Given the description of an element on the screen output the (x, y) to click on. 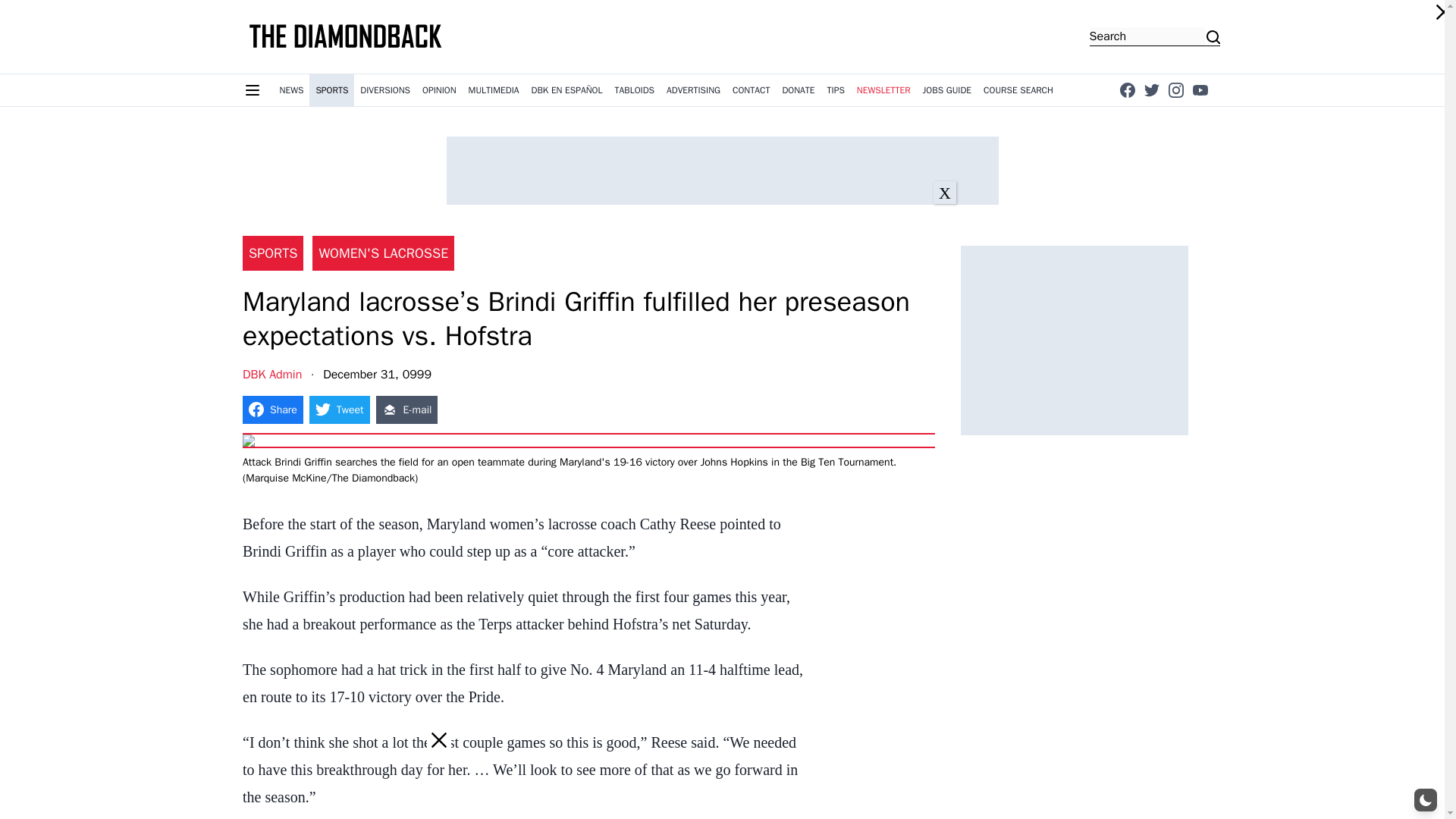
DONATE (798, 90)
Tips (835, 90)
Course Search (1017, 90)
OPINION (439, 90)
Sports (330, 90)
Contact (751, 90)
TABLOIDS (634, 90)
Advertising (693, 90)
DIVERSIONS (384, 90)
MULTIMEDIA (494, 90)
